Given the description of an element on the screen output the (x, y) to click on. 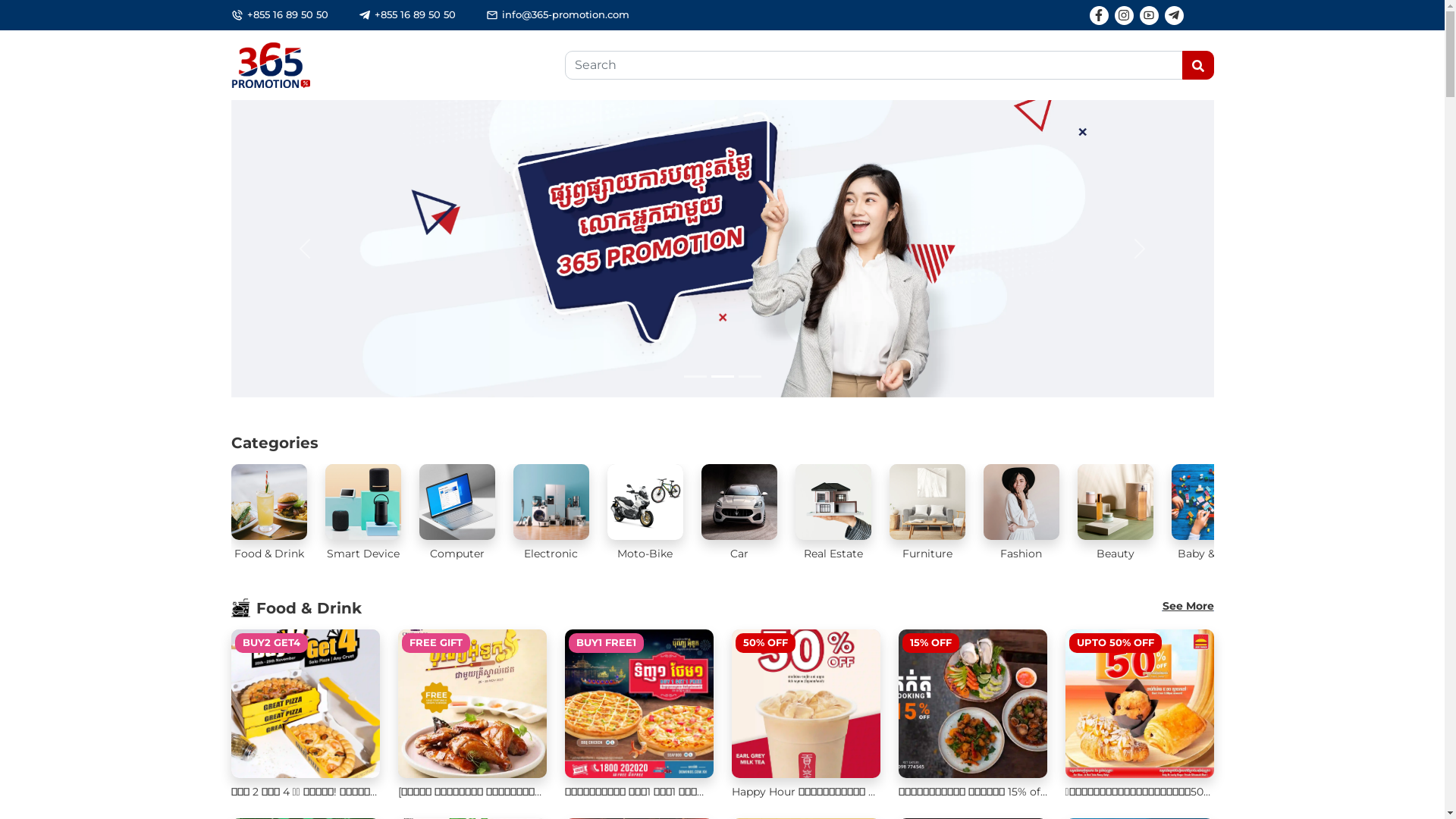
Next Element type: text (1139, 248)
+855 16 89 50 50 Element type: text (287, 14)
See More Element type: text (1187, 607)
info@365-promotion.com Element type: text (565, 14)
Previous Element type: text (303, 248)
Food & Drink Element type: text (295, 607)
+855 16 89 50 50 Element type: text (414, 14)
